Given the description of an element on the screen output the (x, y) to click on. 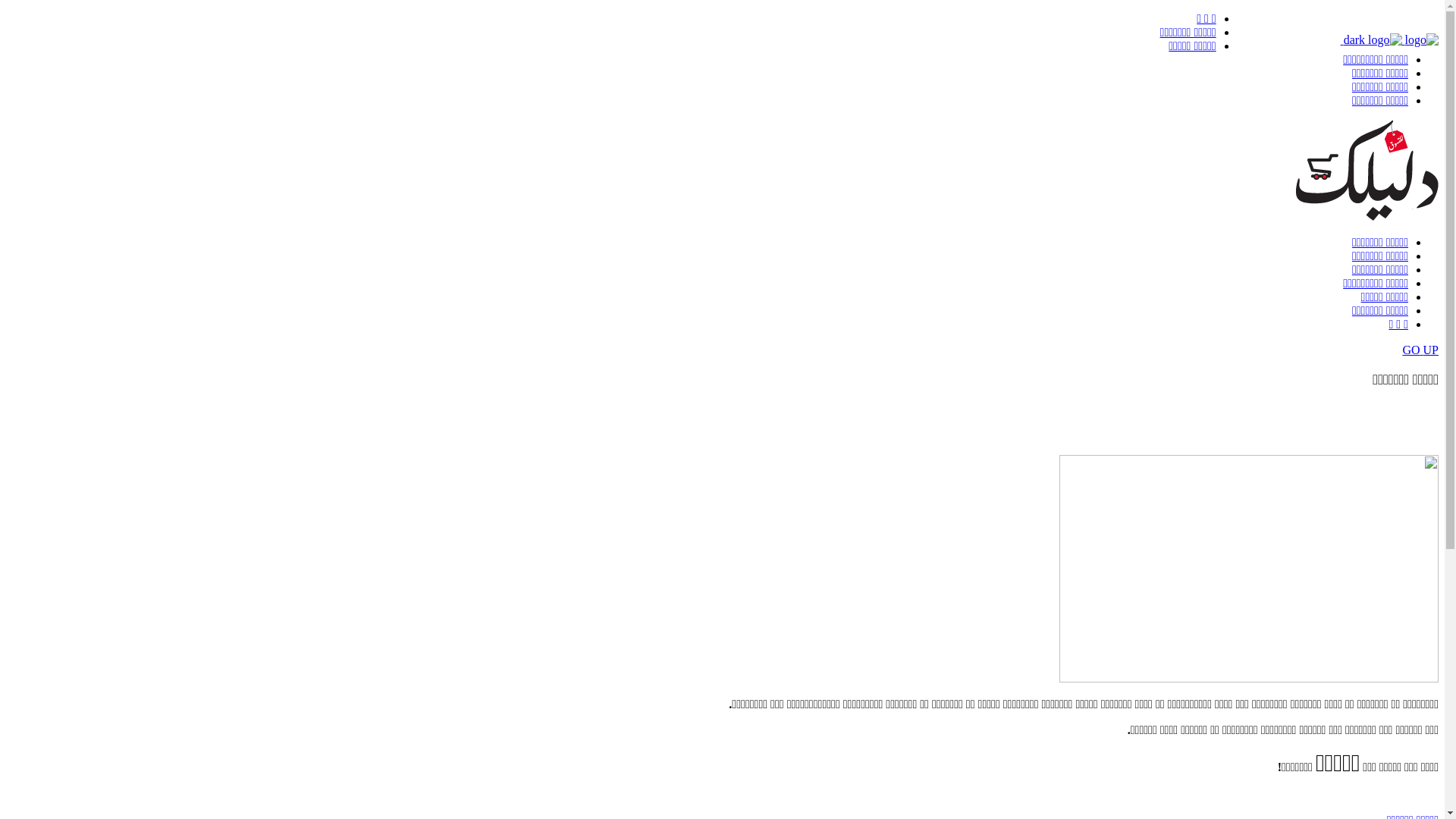
GO UP Element type: text (722, 350)
